Given the description of an element on the screen output the (x, y) to click on. 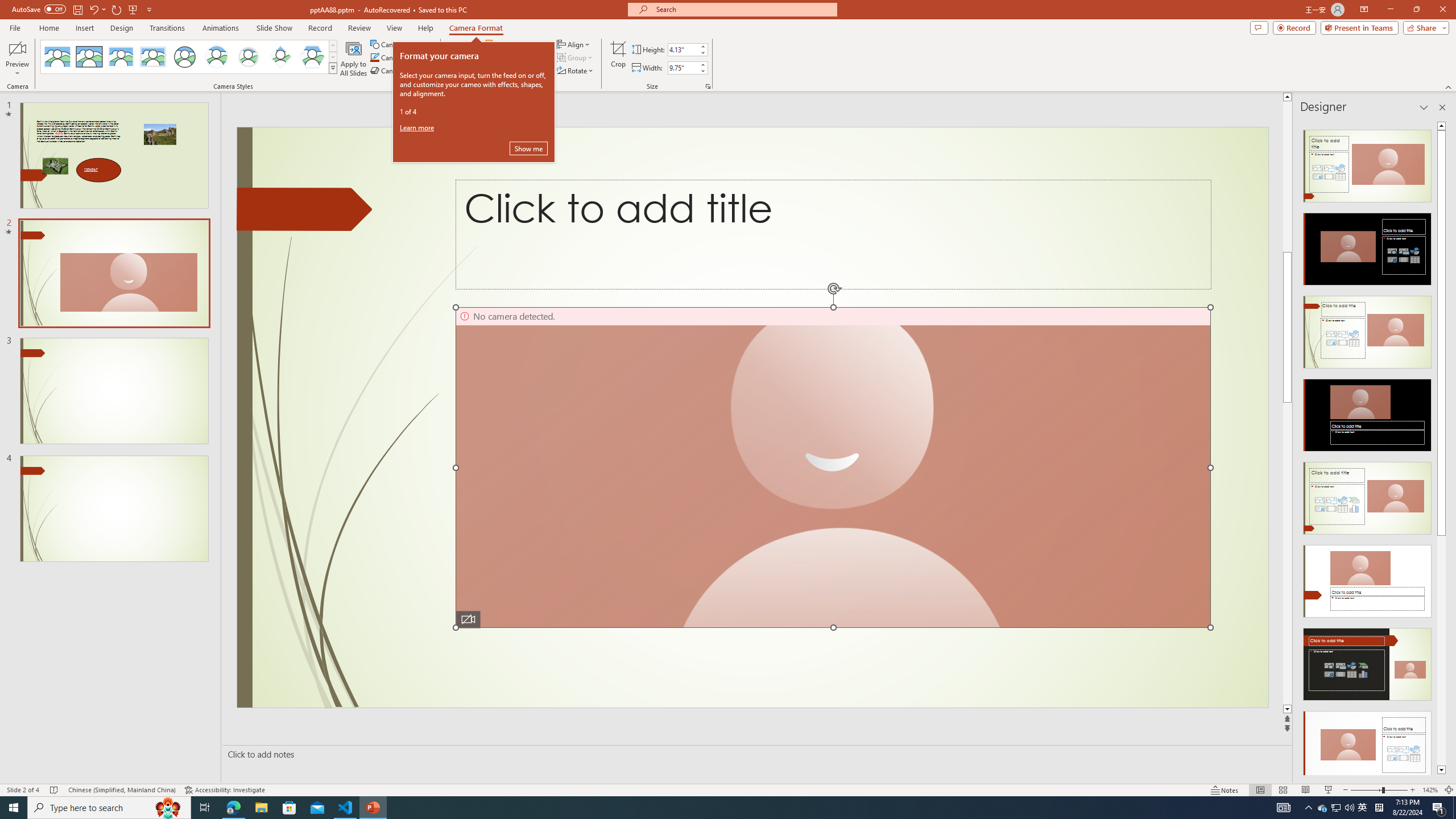
Cameo Height (682, 49)
Send Backward (514, 56)
Cameo Width (682, 67)
